Given the description of an element on the screen output the (x, y) to click on. 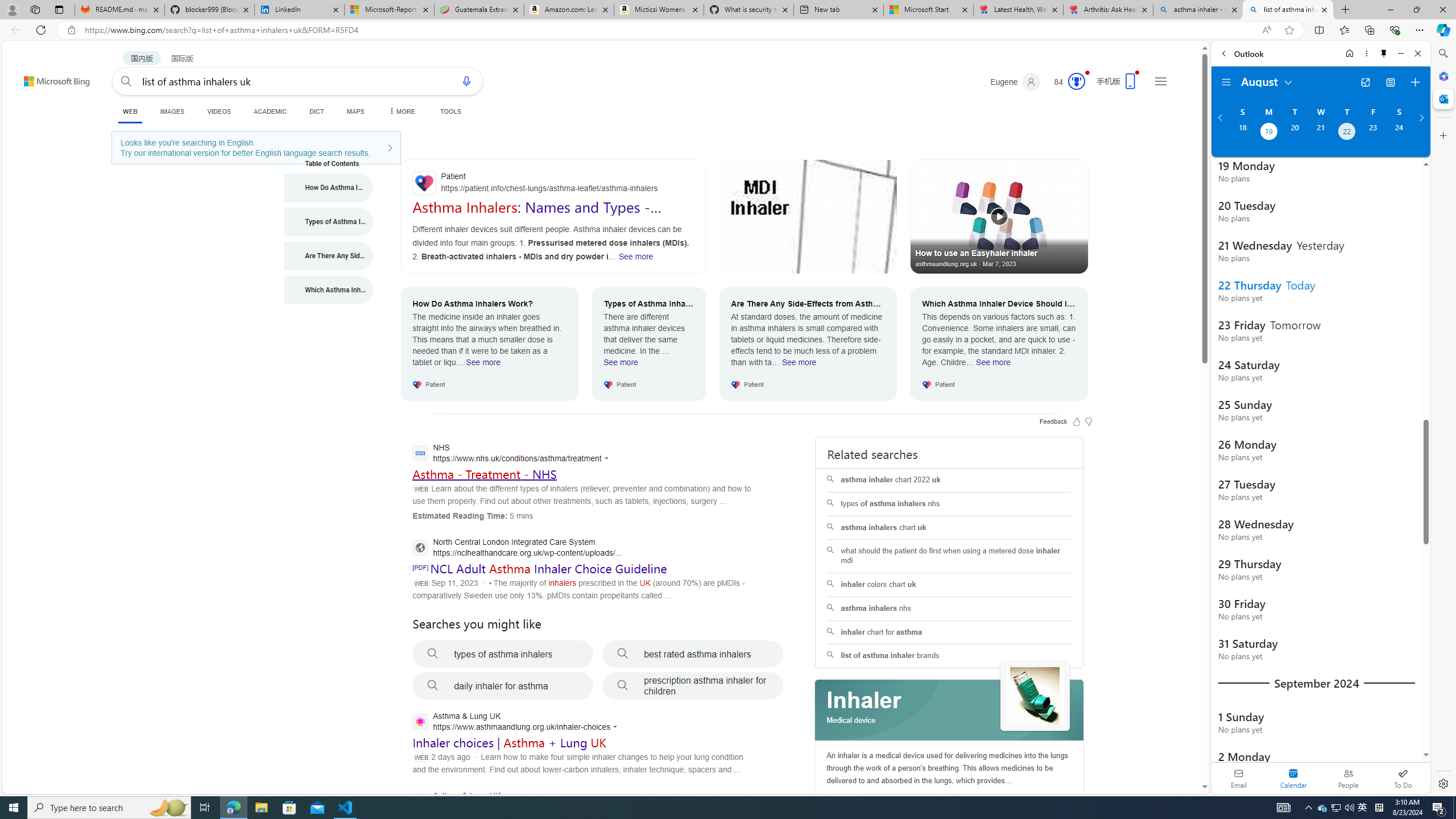
Animation (1086, 72)
MAPS (355, 111)
Eugene (1015, 81)
Folder navigation (1225, 82)
Skip to content (35, 76)
Global web icon (420, 721)
